Given the description of an element on the screen output the (x, y) to click on. 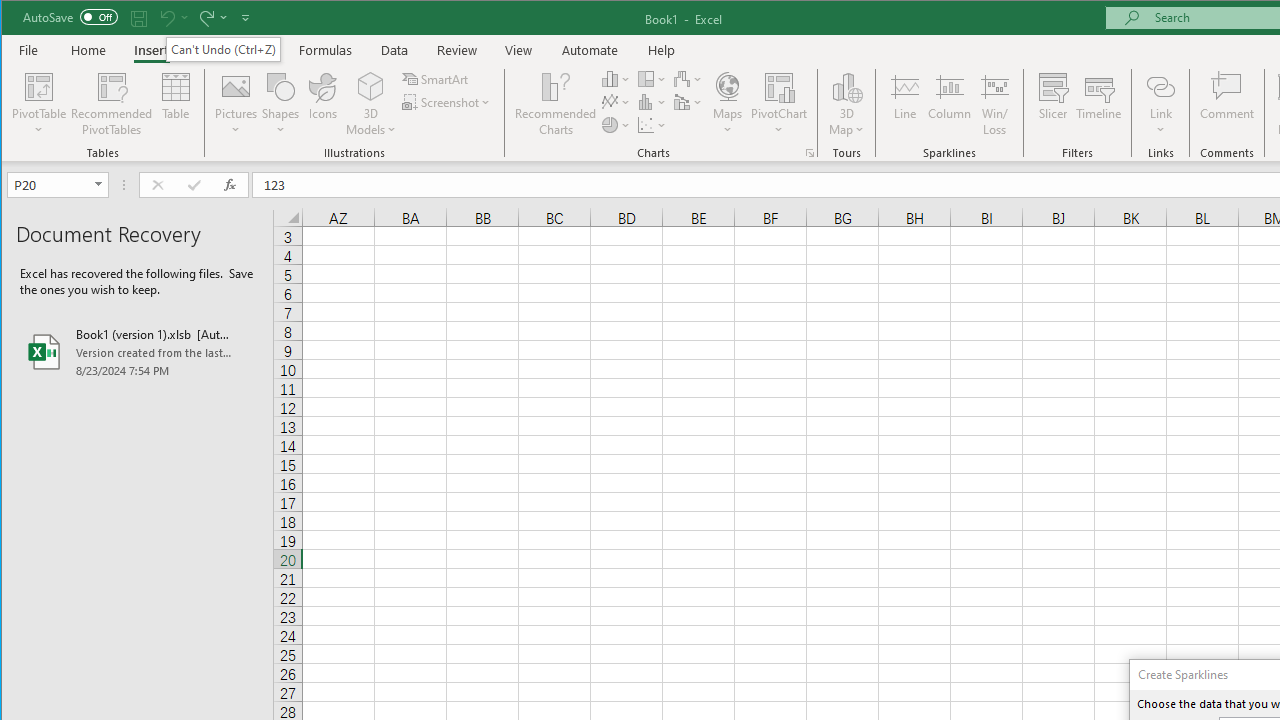
Line (904, 104)
PivotChart (779, 86)
Comment (1227, 104)
3D Models (371, 86)
Insert Column or Bar Chart (616, 78)
3D Models (371, 104)
Recommended PivotTables (111, 104)
PivotChart (779, 104)
Table (175, 104)
